Given the description of an element on the screen output the (x, y) to click on. 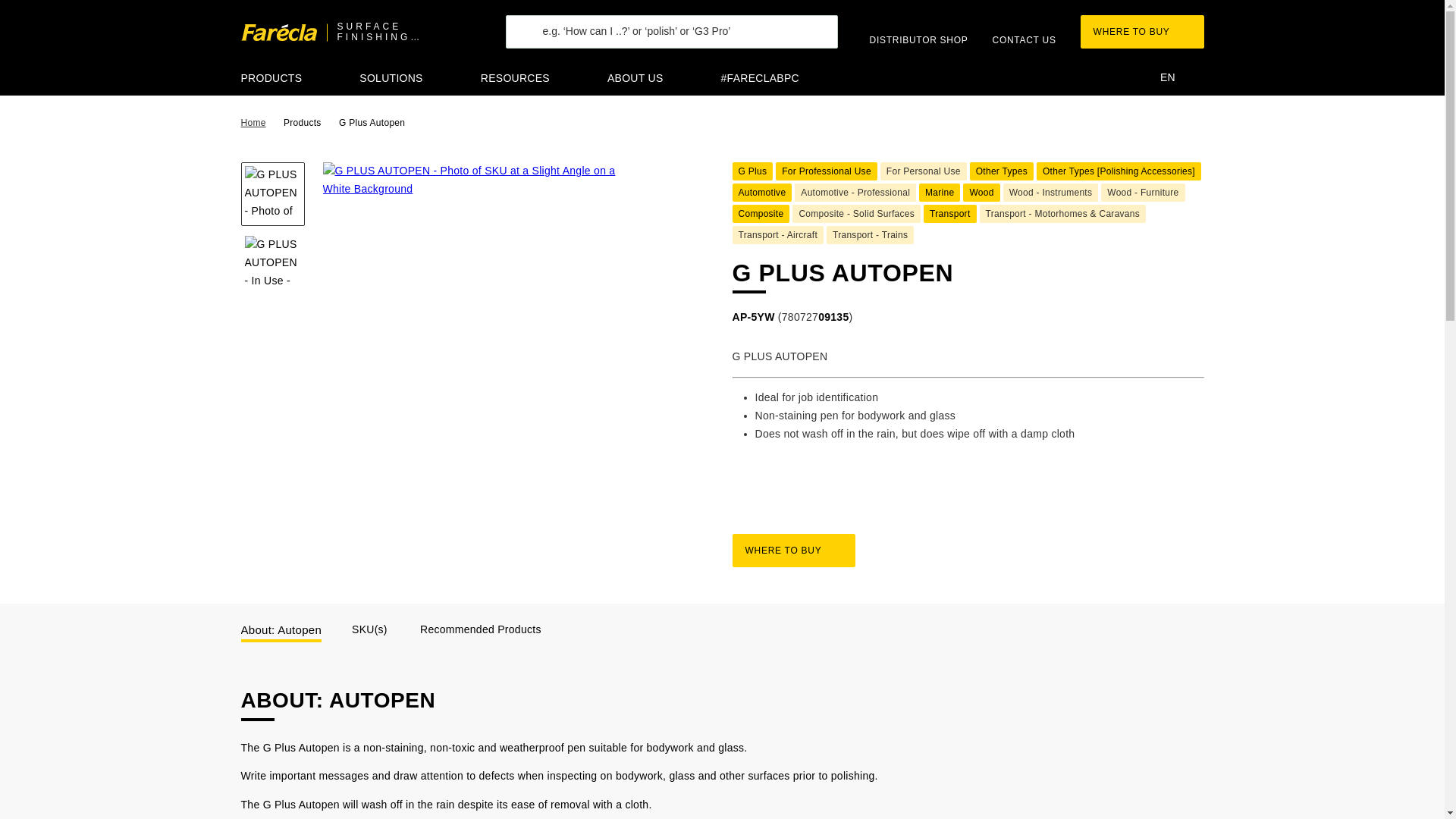
EN (1183, 77)
SURFACE FINISHING SPECIALISTS (362, 32)
Search (544, 48)
CONTACT US (1029, 31)
WHERE TO BUY (1147, 31)
PRODUCTS (286, 79)
DISTRIBUTOR SHOP (924, 31)
